Given the description of an element on the screen output the (x, y) to click on. 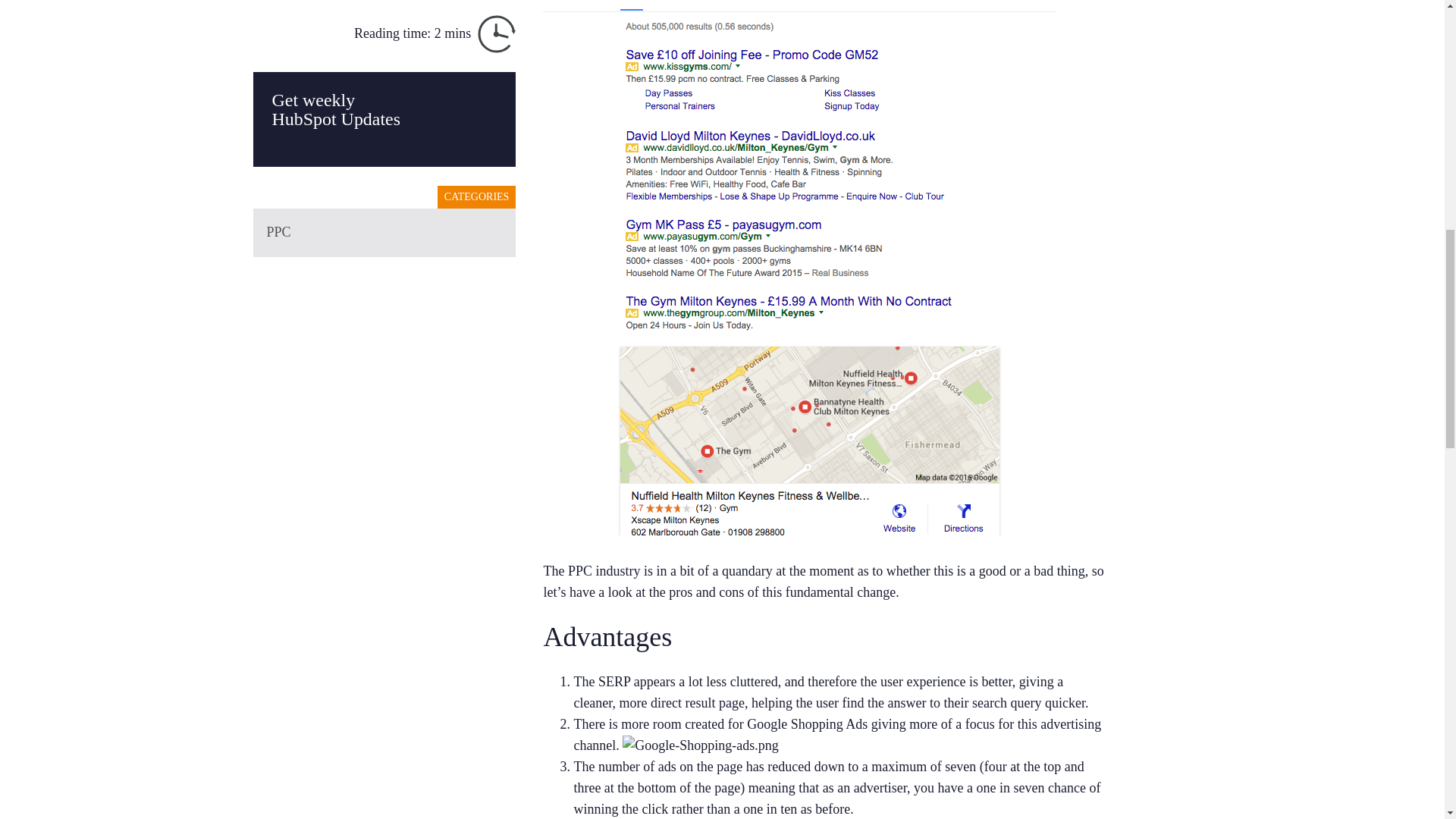
Google-Shopping-ads.png (700, 745)
